Given the description of an element on the screen output the (x, y) to click on. 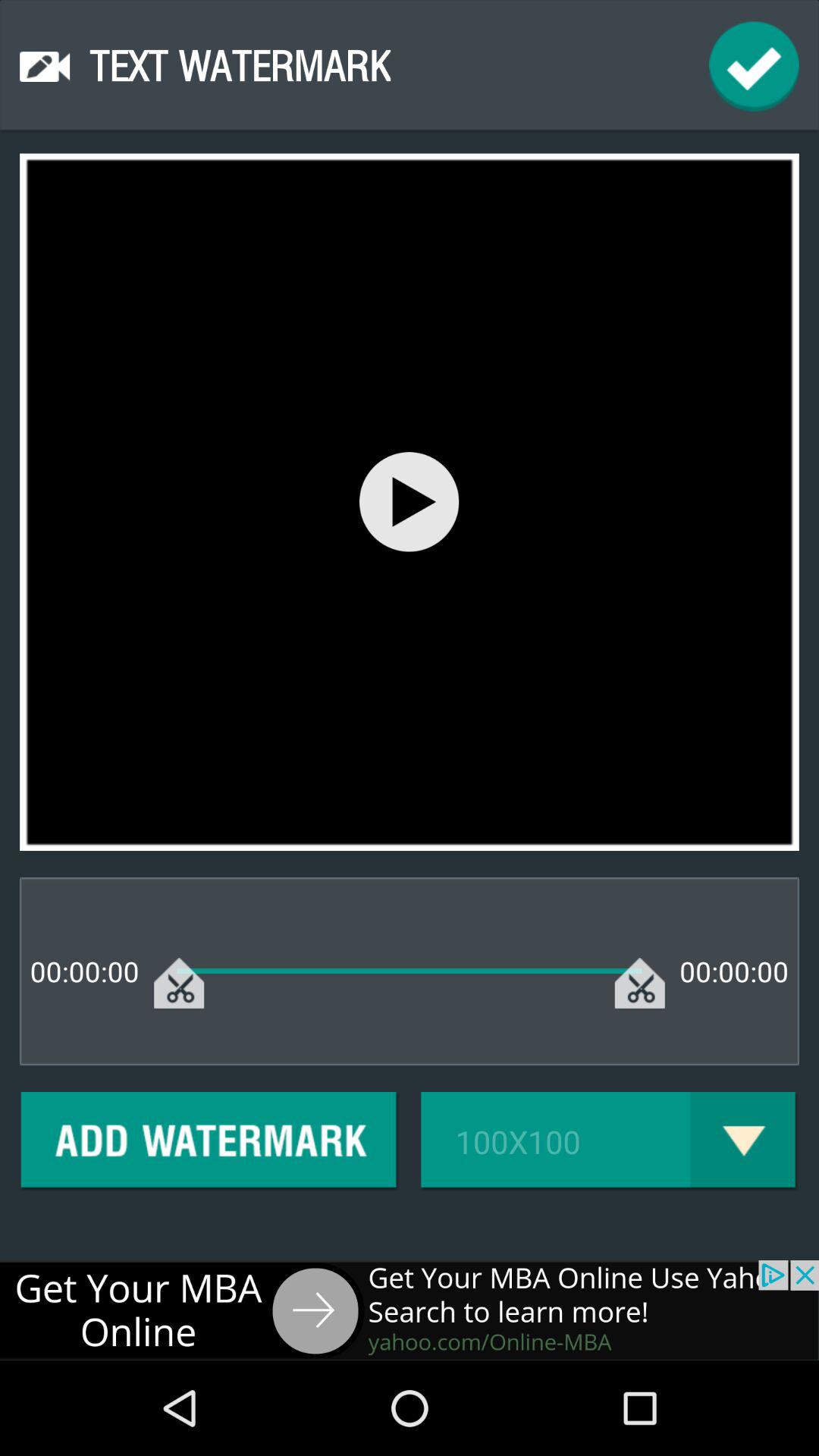
watemark button (209, 1141)
